Given the description of an element on the screen output the (x, y) to click on. 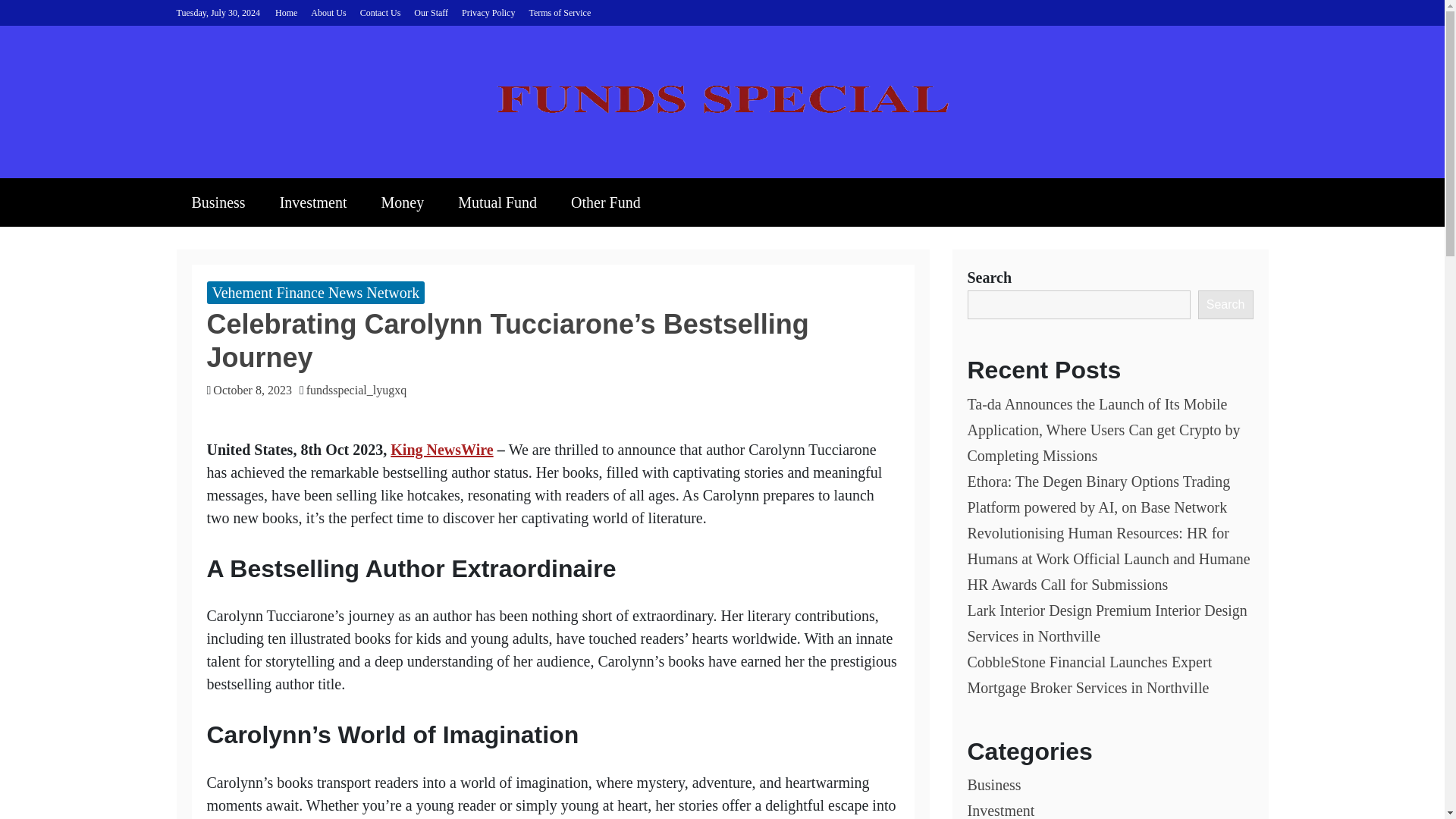
Mutual Fund (496, 202)
Home (286, 12)
Investment (313, 202)
Privacy Policy (488, 12)
Money (402, 202)
Contact Us (380, 12)
King NewsWire (441, 449)
Terms of Service (559, 12)
Other Fund (606, 202)
Vehement Finance News Network (315, 292)
Our Staff (430, 12)
FUNDS SPECIAL (470, 164)
